Given the description of an element on the screen output the (x, y) to click on. 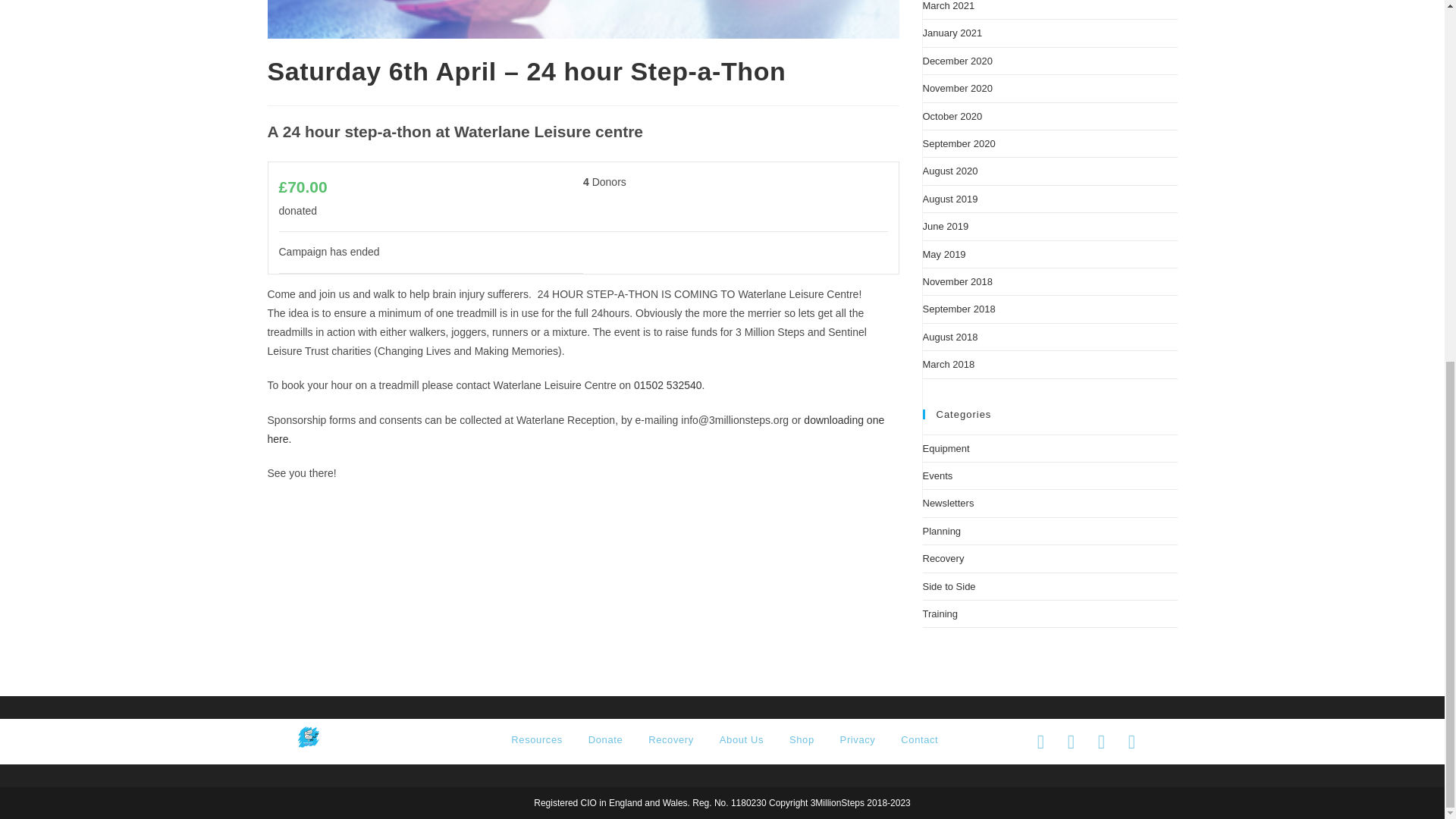
Call via Hangouts (667, 385)
